Given the description of an element on the screen output the (x, y) to click on. 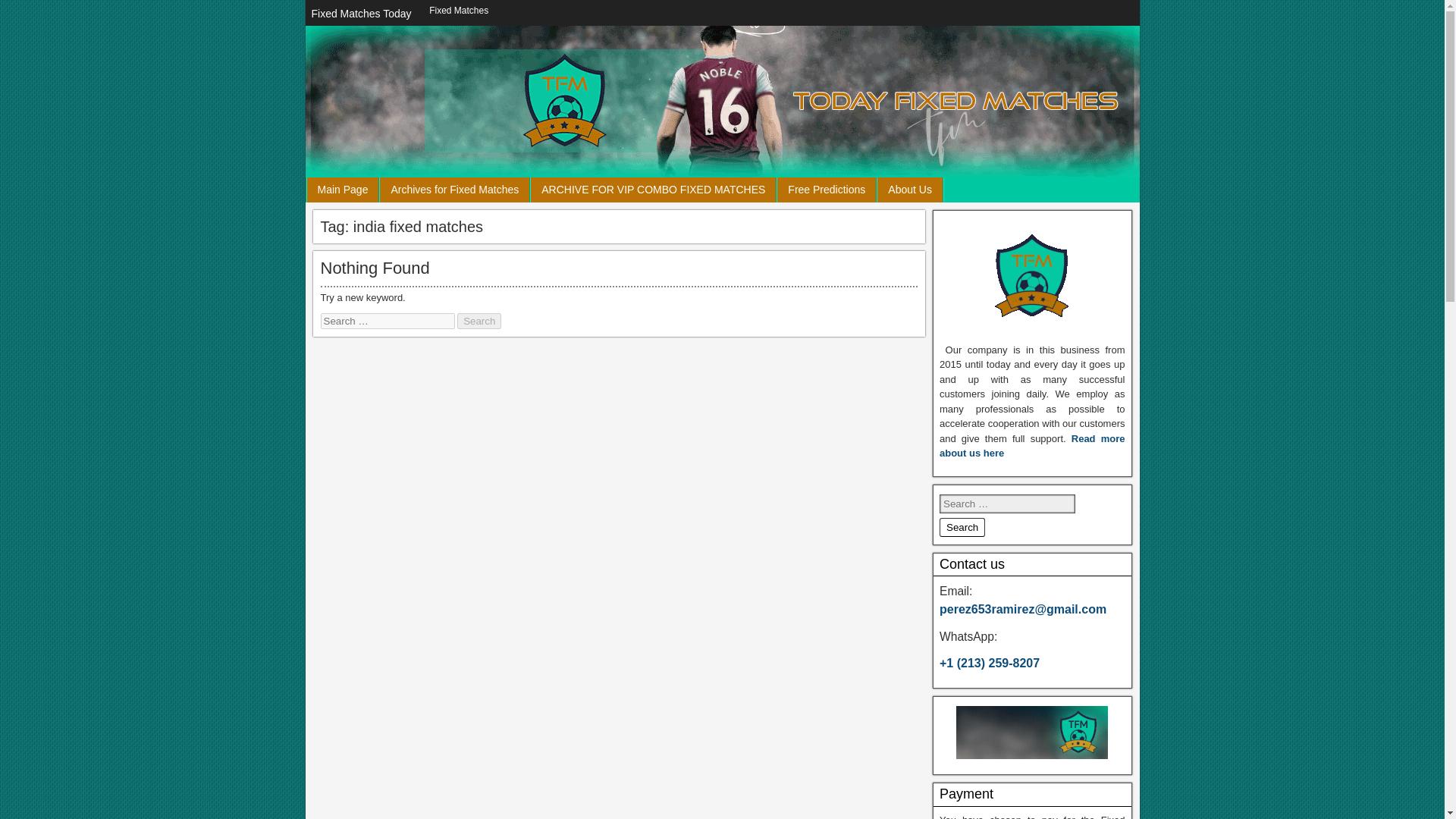
About Us (909, 189)
Search (962, 527)
Search (478, 320)
Archives for Fixed Matches (454, 189)
Free Predictions (826, 189)
ARCHIVE FOR VIP COMBO FIXED MATCHES (653, 189)
Search (478, 320)
Search (962, 527)
Fixed Matches Today (360, 13)
Main Page (341, 189)
Search (962, 527)
Read more about us here (1032, 446)
Search (478, 320)
